Given the description of an element on the screen output the (x, y) to click on. 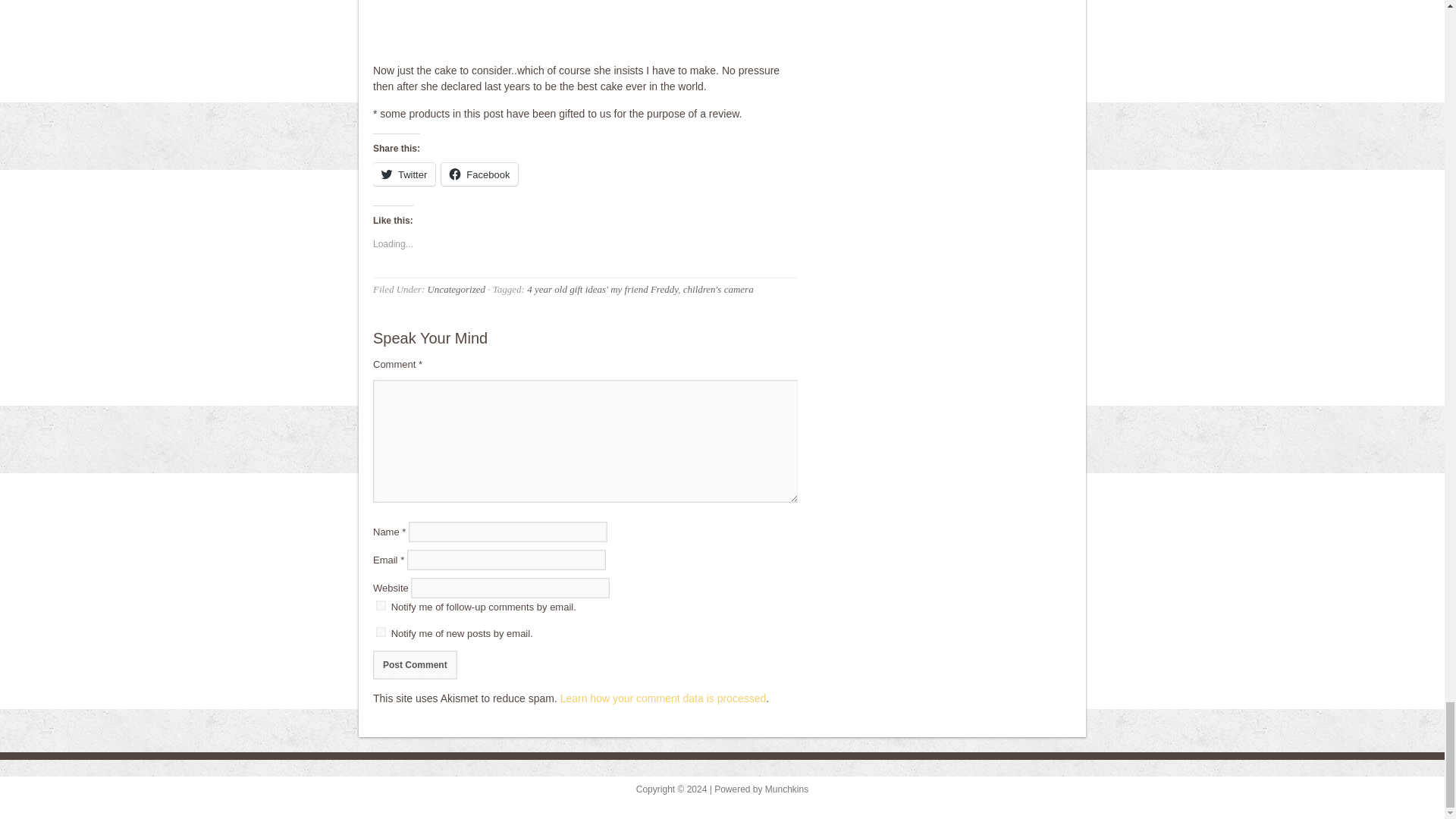
Learn how your comment data is processed (663, 698)
Click to share on Facebook (479, 173)
children's camera (718, 288)
4 year old gift ideas' my friend Freddy (602, 288)
Post Comment (414, 664)
subscribe (380, 632)
Post Comment (414, 664)
Twitter (403, 173)
Facebook (479, 173)
Click to share on Twitter (403, 173)
subscribe (380, 605)
Uncategorized (455, 288)
